Given the description of an element on the screen output the (x, y) to click on. 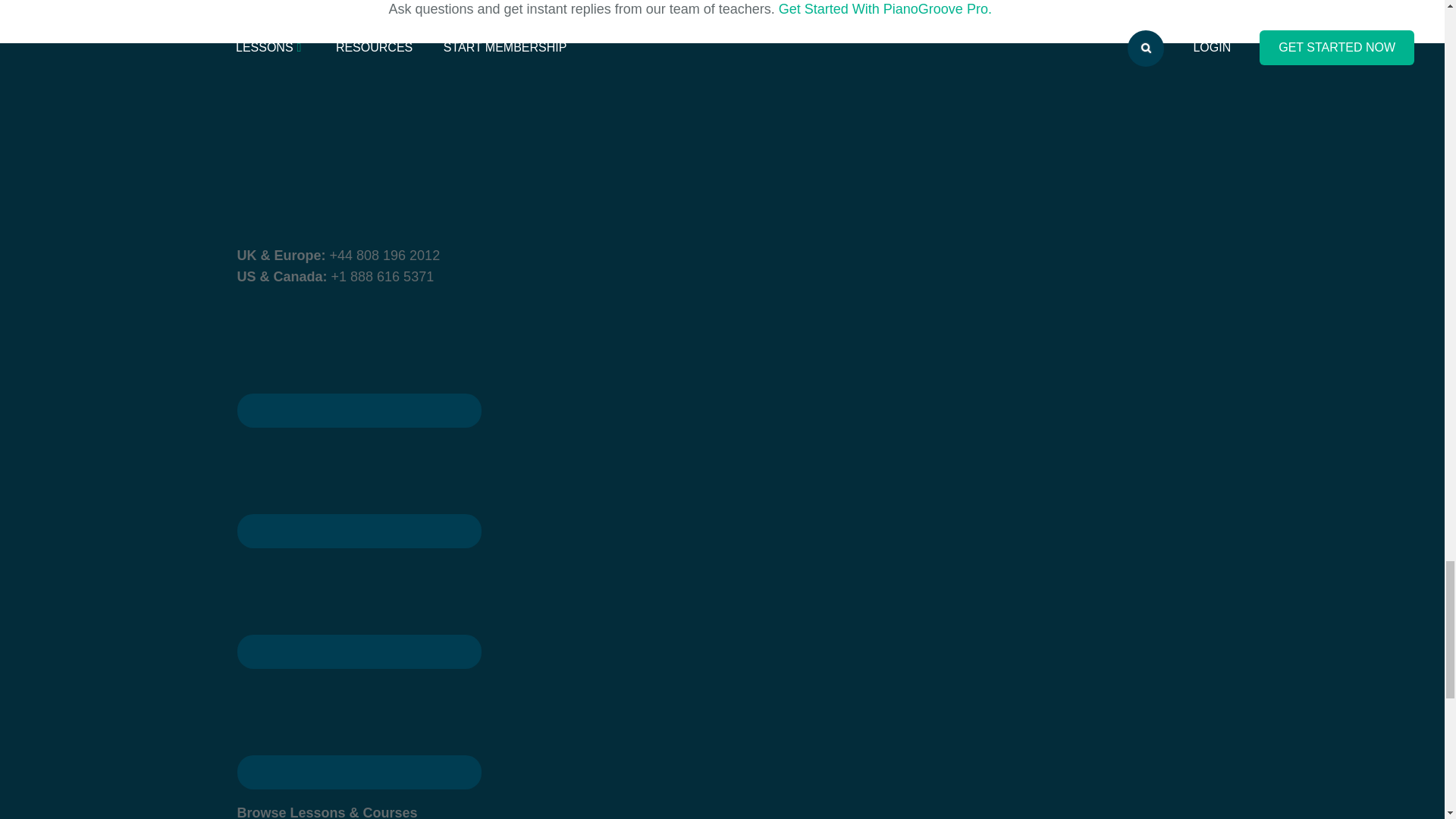
Get Started With PianoGroove Pro. (884, 8)
Facebook (359, 359)
Twitter (359, 600)
Instagram (359, 480)
YouTube (359, 721)
Instagram (357, 530)
Facebook (357, 410)
